Given the description of an element on the screen output the (x, y) to click on. 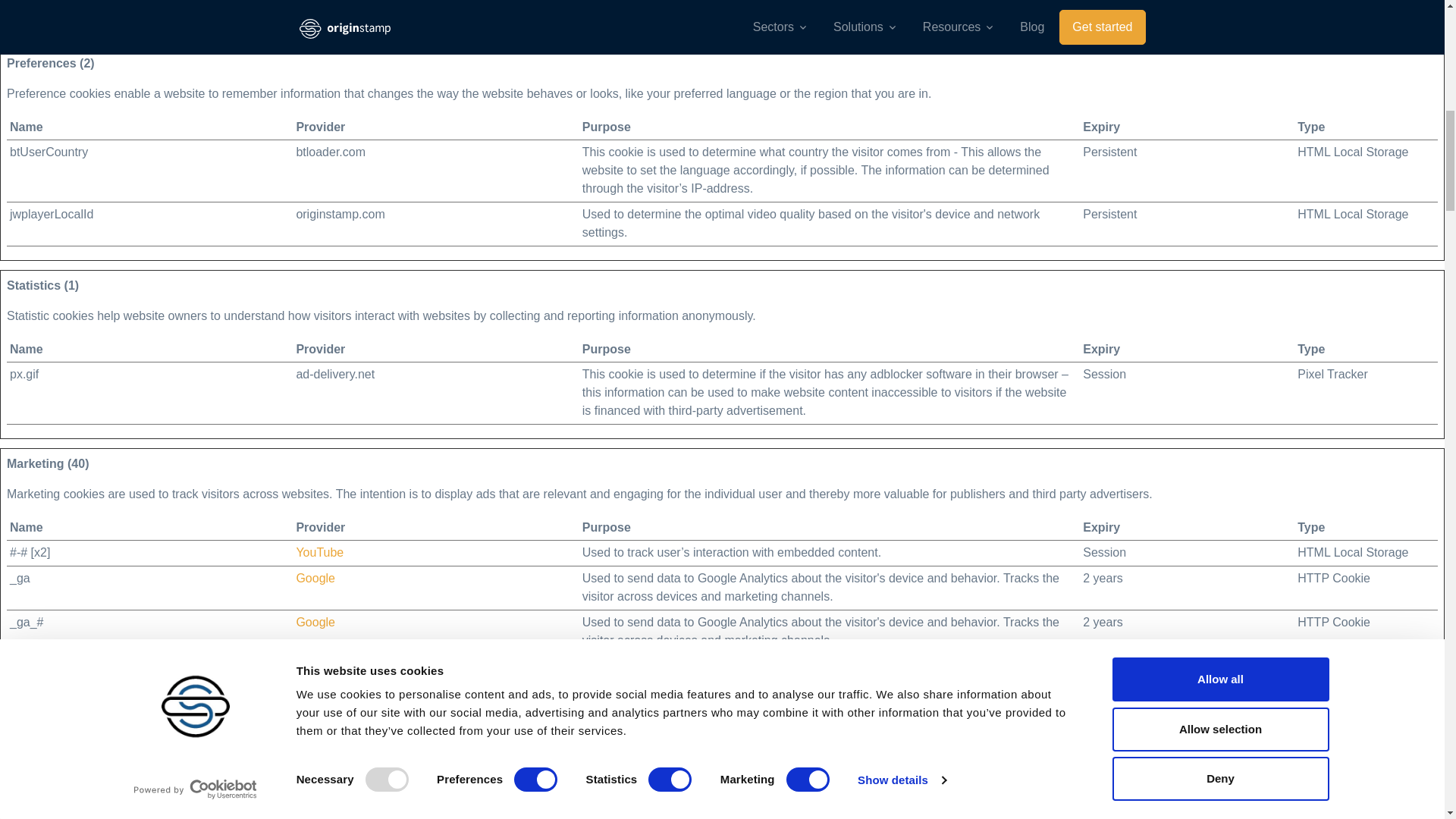
Adthrive (317, 814)
Google's privacy policy (314, 621)
YouTube (319, 552)
Google's privacy policy (314, 709)
Google's privacy policy (314, 10)
Google (314, 621)
Adthrive (317, 753)
Google (314, 709)
YouTube's privacy policy (319, 552)
Google's privacy policy (314, 577)
